Given the description of an element on the screen output the (x, y) to click on. 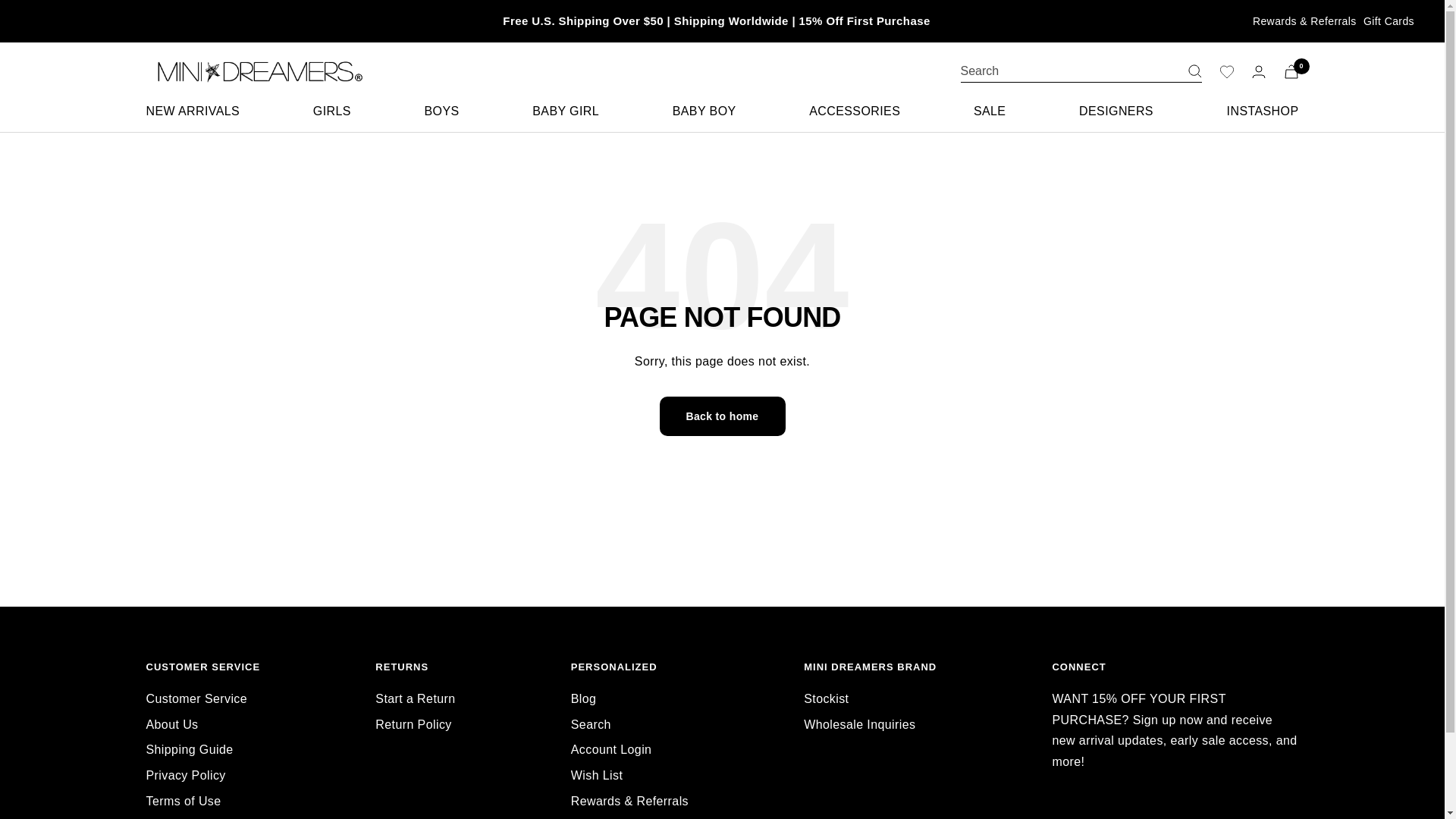
Privacy Policy (185, 775)
Back to home (722, 415)
0 (1290, 71)
Blog (583, 699)
Return Policy (413, 724)
Account Login (611, 749)
Mini Dreamers (255, 71)
NEW ARRIVALS (192, 111)
Stockist (825, 699)
BABY BOY (704, 111)
